Given the description of an element on the screen output the (x, y) to click on. 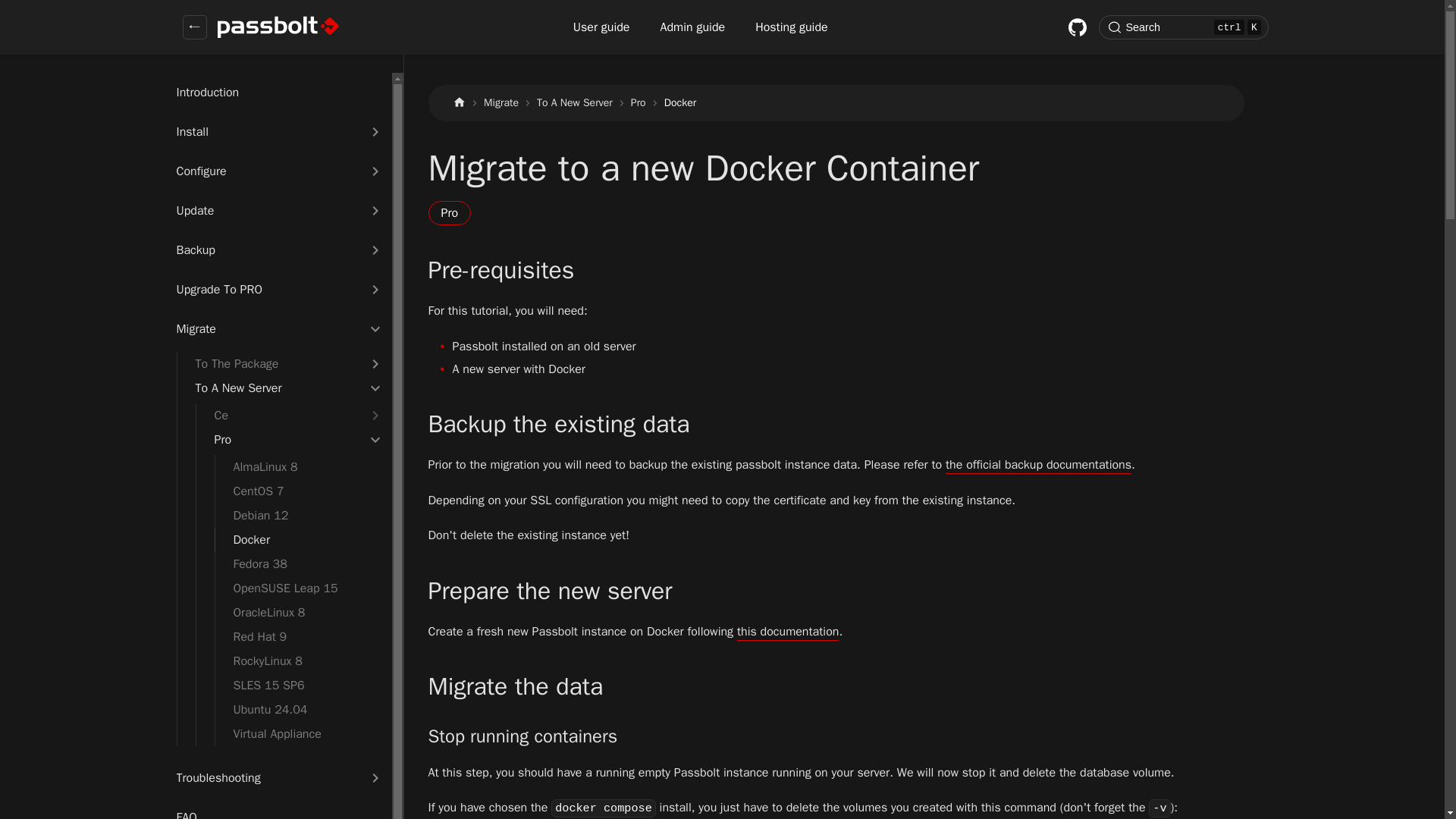
Virtual Appliance (303, 733)
RockyLinux 8 (303, 661)
OpenSUSE Leap 15 (303, 588)
Update (267, 210)
Fedora 38 (303, 564)
Pro (293, 439)
Hosting guide (791, 27)
Return to main website (194, 27)
OracleLinux 8 (303, 612)
Docker (303, 539)
